Given the description of an element on the screen output the (x, y) to click on. 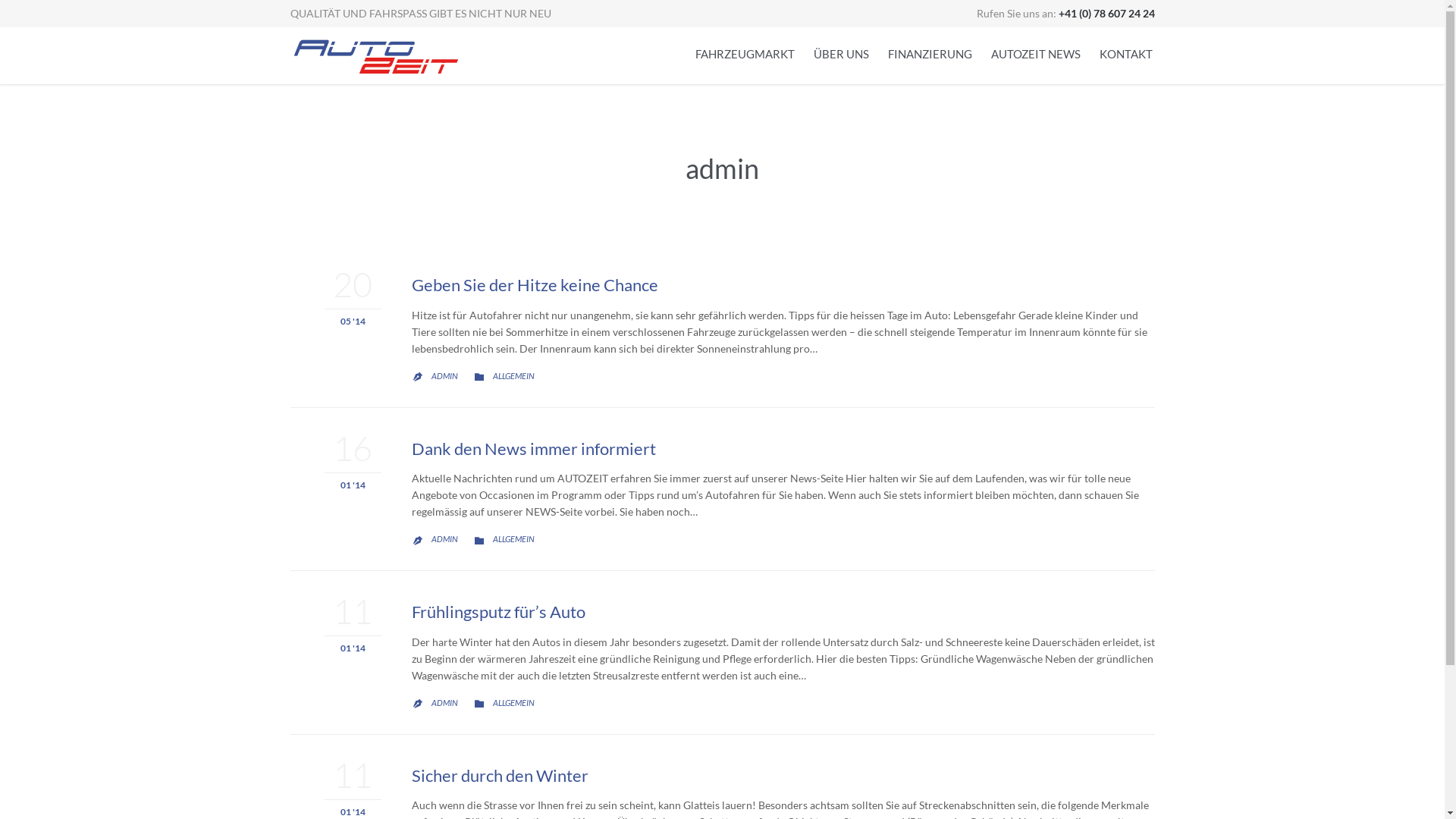
Sicher durch den Winter Element type: text (499, 775)
Skip to content Element type: text (1163, 40)
ALLGEMEIN Element type: text (513, 375)
ADMIN Element type: text (443, 702)
FINANZIERUNG Element type: text (929, 55)
KONTAKT Element type: text (1125, 55)
admin Element type: text (722, 168)
ADMIN Element type: text (443, 538)
ADMIN Element type: text (443, 375)
ALLGEMEIN Element type: text (513, 538)
Geben Sie der Hitze keine Chance Element type: text (534, 284)
FAHRZEUGMARKT Element type: text (743, 55)
ALLGEMEIN Element type: text (513, 702)
Dank den News immer informiert Element type: text (533, 448)
AUTOZEIT NEWS Element type: text (1034, 55)
